Given the description of an element on the screen output the (x, y) to click on. 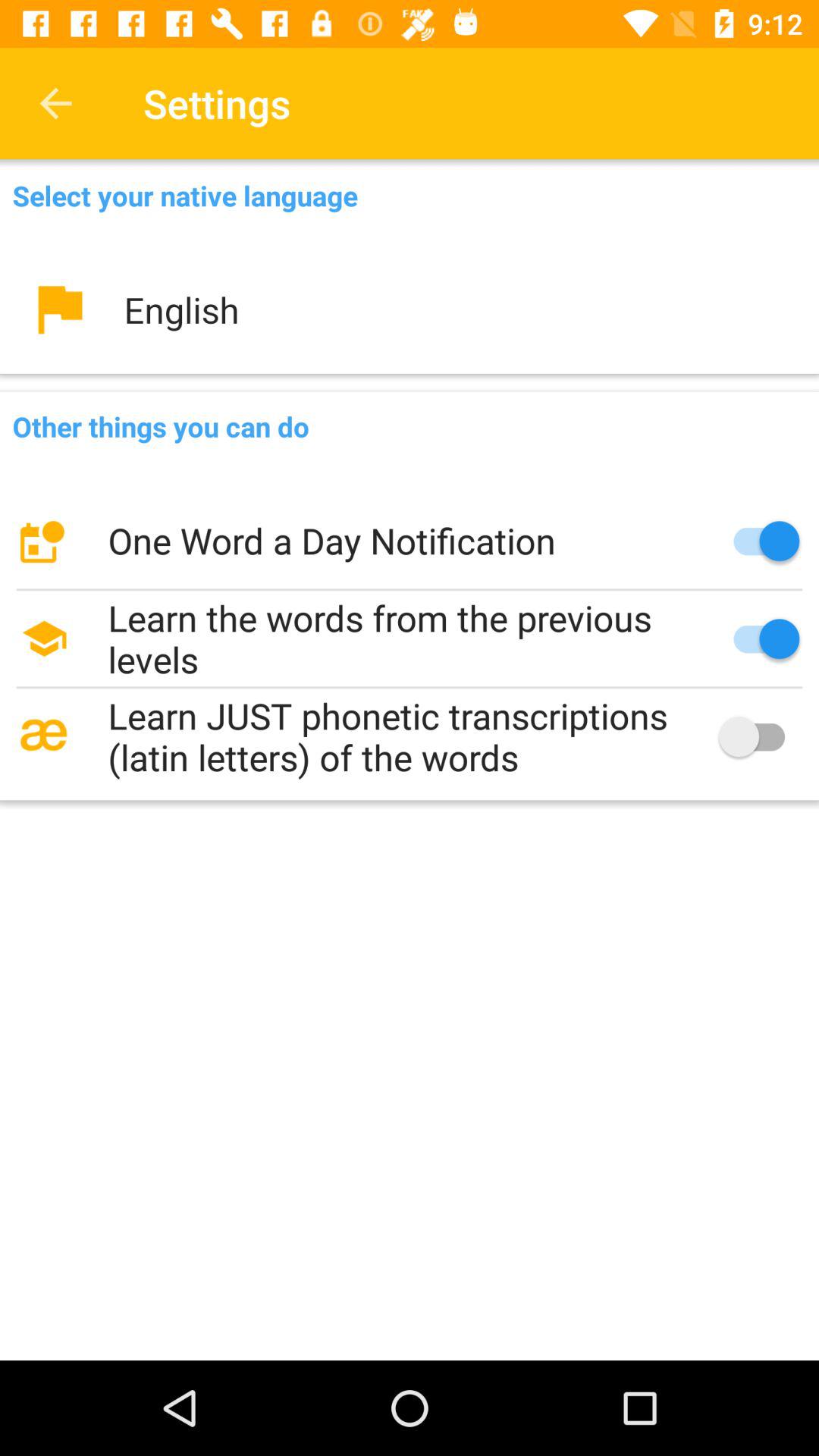
click item below the other things you (409, 540)
